Given the description of an element on the screen output the (x, y) to click on. 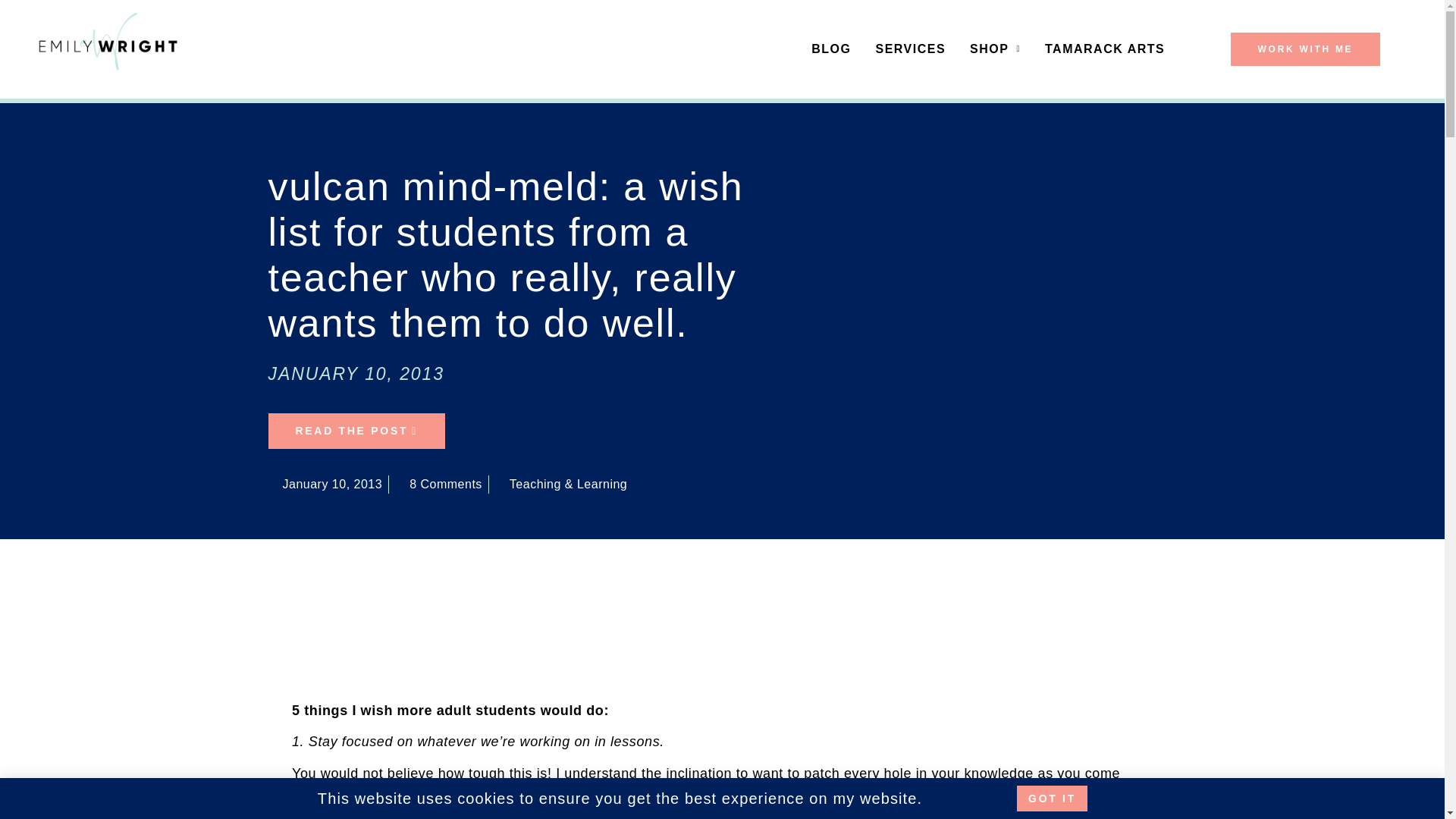
BLOG (831, 48)
January 10, 2013 (324, 484)
READ THE POST (356, 430)
WORK WITH ME (1305, 49)
SERVICES (910, 48)
SHOP (995, 48)
JANUARY 10, 2013 (355, 374)
TAMARACK ARTS (1104, 48)
8 Comments (437, 484)
